Given the description of an element on the screen output the (x, y) to click on. 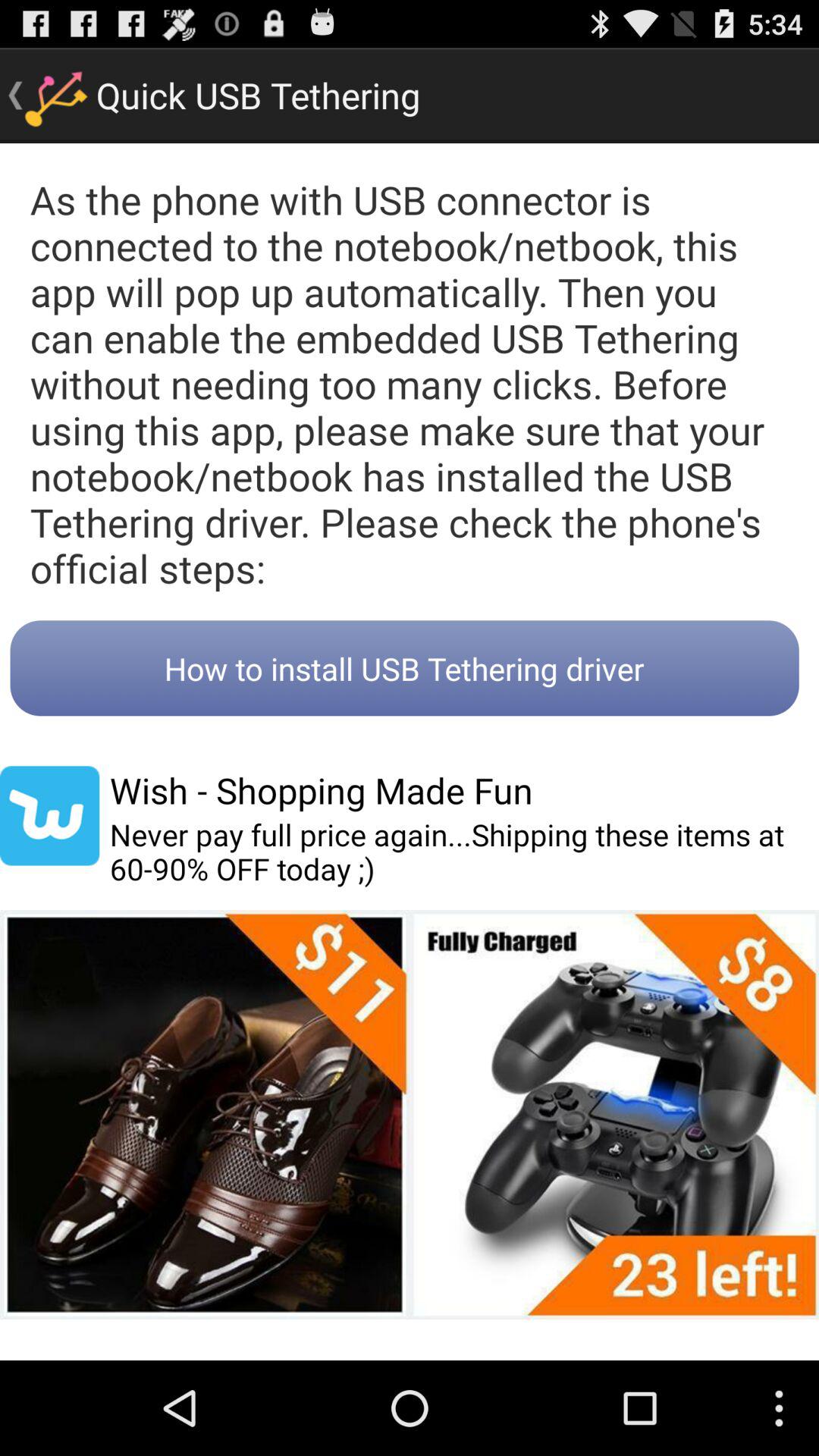
scroll until the never pay full icon (464, 852)
